Given the description of an element on the screen output the (x, y) to click on. 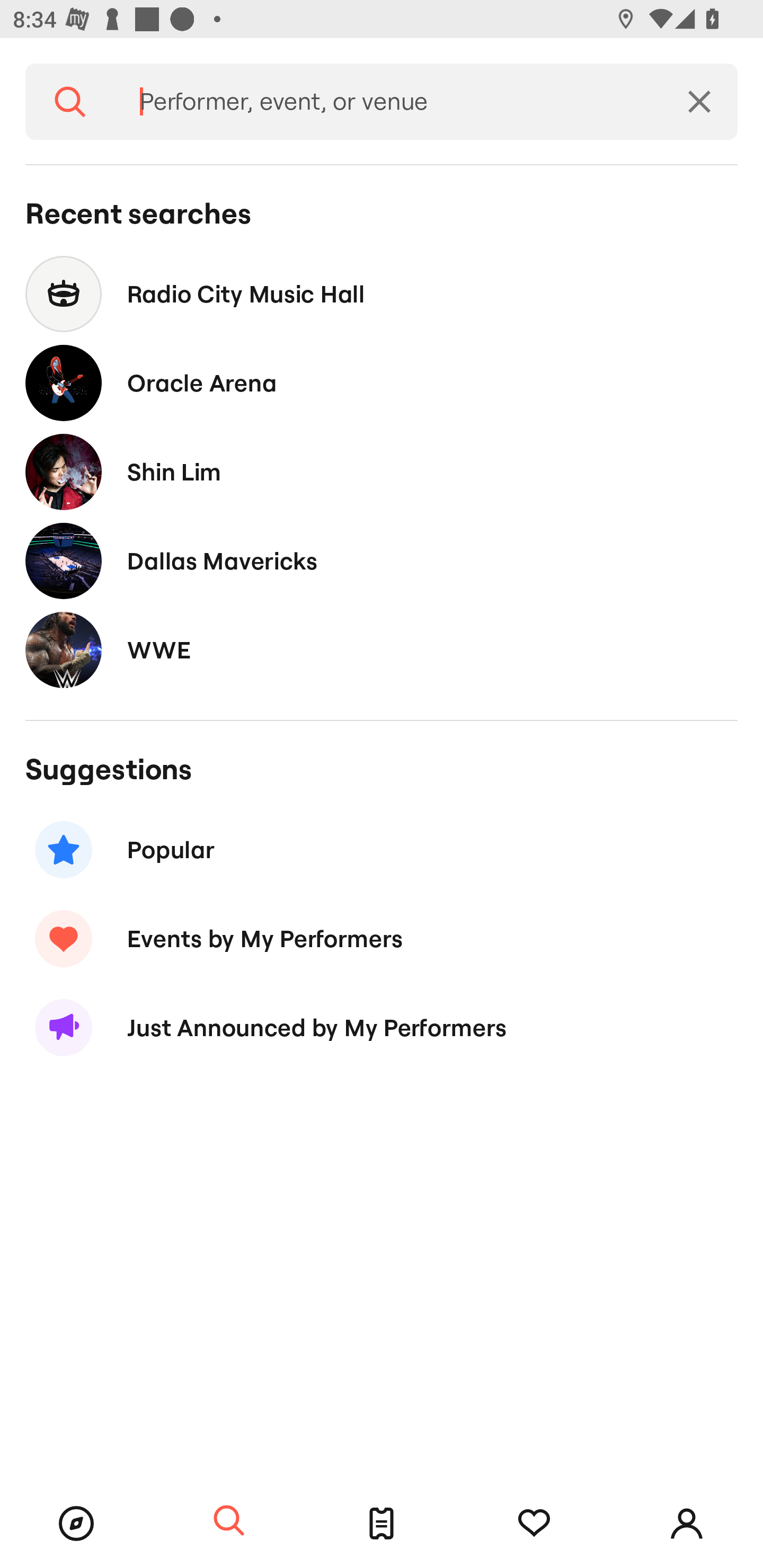
Search (69, 101)
Performer, event, or venue (387, 101)
Clear (699, 101)
Radio City Music Hall (381, 293)
Oracle Arena (381, 383)
Shin Lim (381, 471)
Dallas Mavericks (381, 560)
WWE (381, 649)
Popular (381, 849)
Events by My Performers (381, 938)
Just Announced by My Performers (381, 1027)
Browse (76, 1523)
Search (228, 1521)
Tickets (381, 1523)
Tracking (533, 1523)
Account (686, 1523)
